Given the description of an element on the screen output the (x, y) to click on. 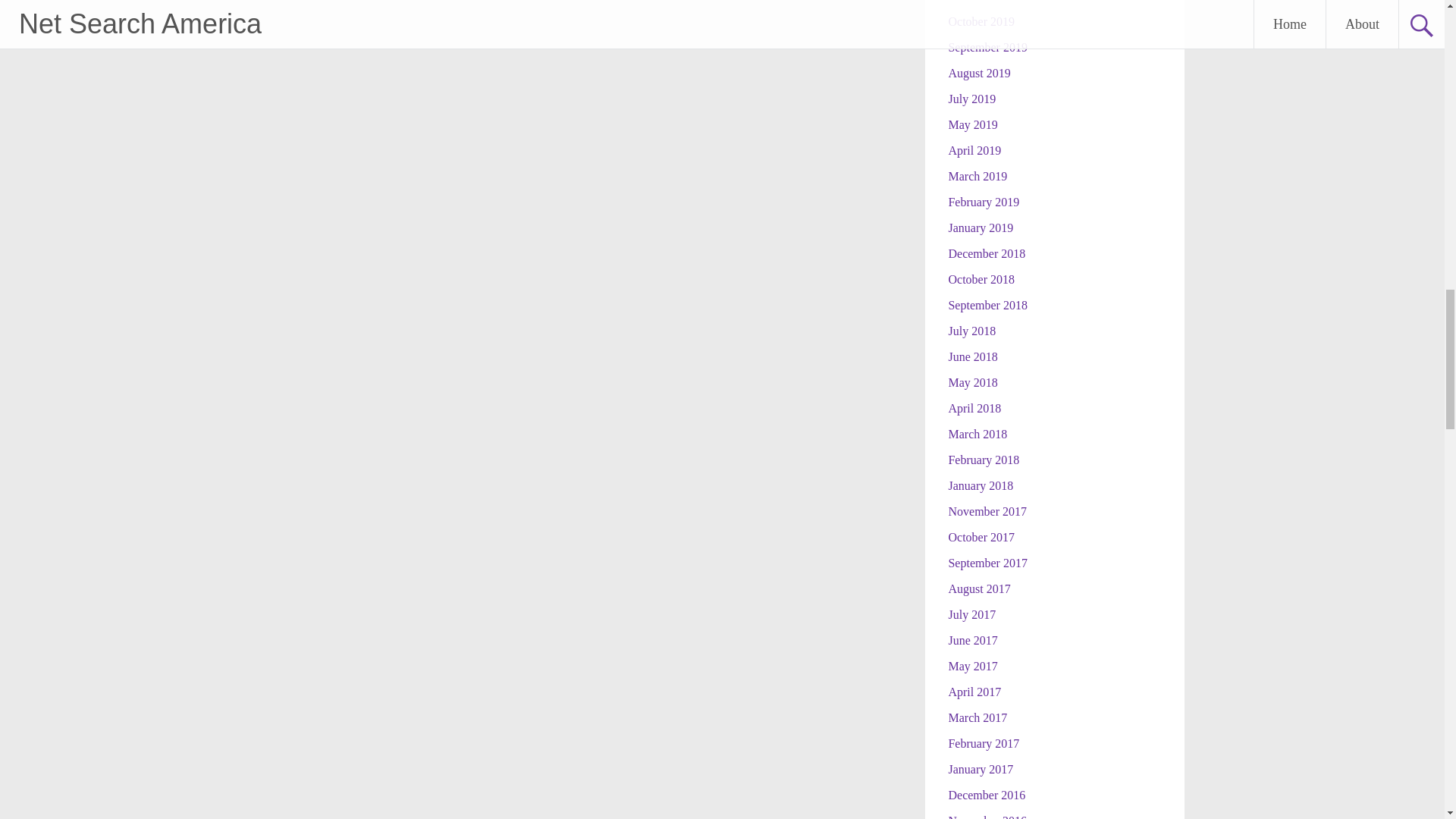
January 2019 (980, 227)
May 2019 (972, 124)
March 2019 (977, 175)
October 2018 (980, 278)
July 2019 (971, 98)
October 2019 (980, 21)
September 2019 (986, 47)
April 2019 (974, 150)
February 2019 (983, 201)
August 2019 (978, 72)
December 2018 (986, 253)
November 2019 (986, 1)
